Given the description of an element on the screen output the (x, y) to click on. 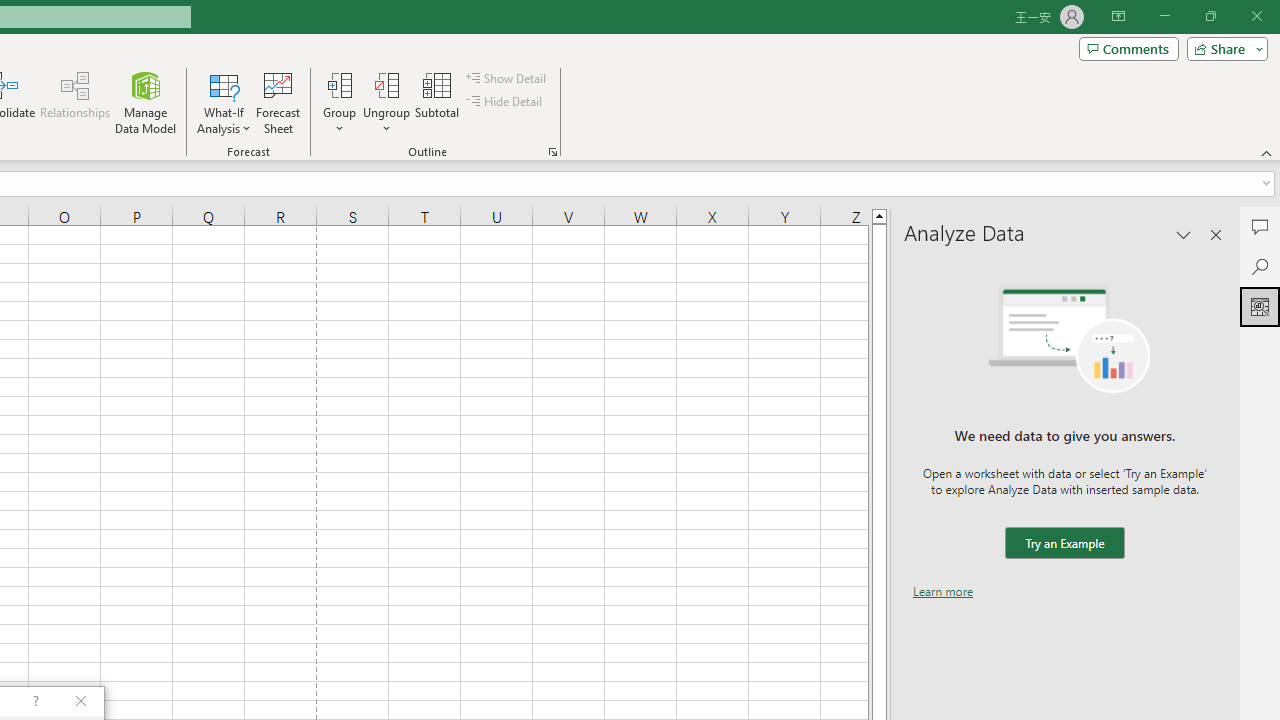
We need data to give you answers. Try an Example (1064, 543)
